Given the description of an element on the screen output the (x, y) to click on. 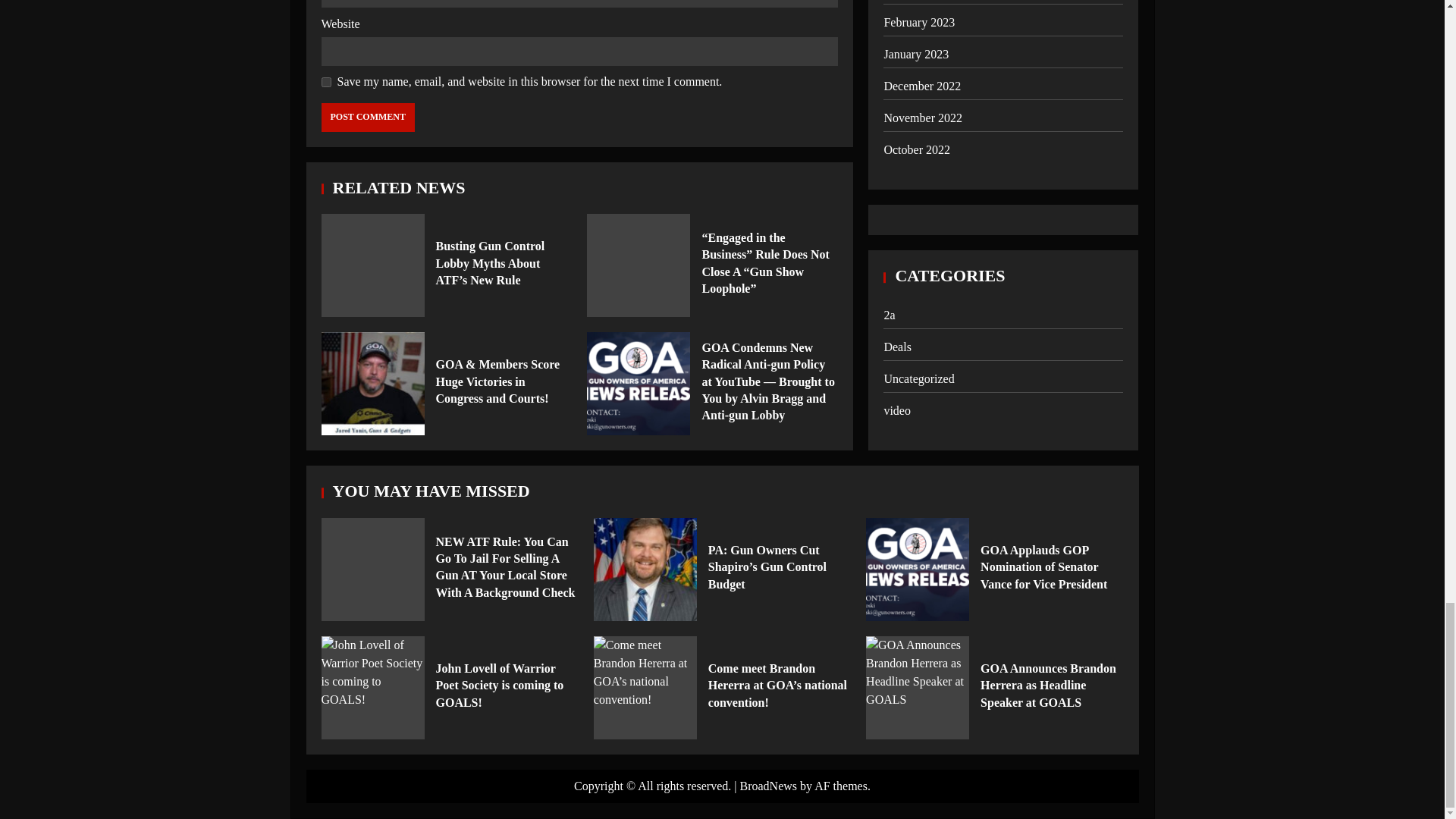
GOA Announces Brandon Herrera as Headline Speaker at GOALS (917, 687)
Post Comment (367, 117)
Post Comment (367, 117)
yes (326, 81)
John Lovell of Warrior Poet Society is coming to GOALS! (373, 687)
